Given the description of an element on the screen output the (x, y) to click on. 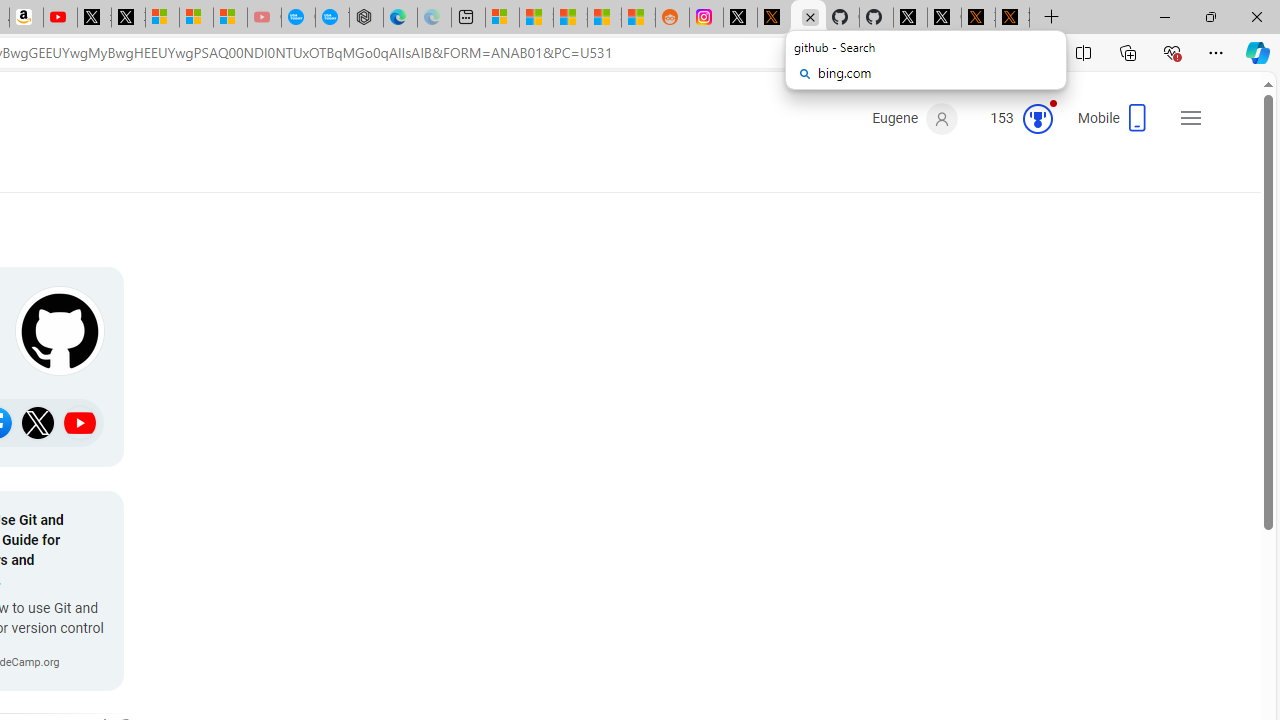
Close (1256, 16)
Shanghai, China weather forecast | Microsoft Weather (535, 17)
Settings and quick links (1190, 117)
Close tab (810, 16)
The most popular Google 'how to' searches (332, 17)
GitHub (@github) / X (944, 17)
X Privacy Policy (1012, 17)
Log in to X / X (740, 17)
Microsoft account | Microsoft Account Privacy Settings (502, 17)
Browser essentials (1171, 52)
Class: medal-circled (1037, 118)
Split screen (1083, 52)
Settings and more (Alt+F) (1215, 52)
Read aloud this page (Ctrl+Shift+U) (991, 53)
